Given the description of an element on the screen output the (x, y) to click on. 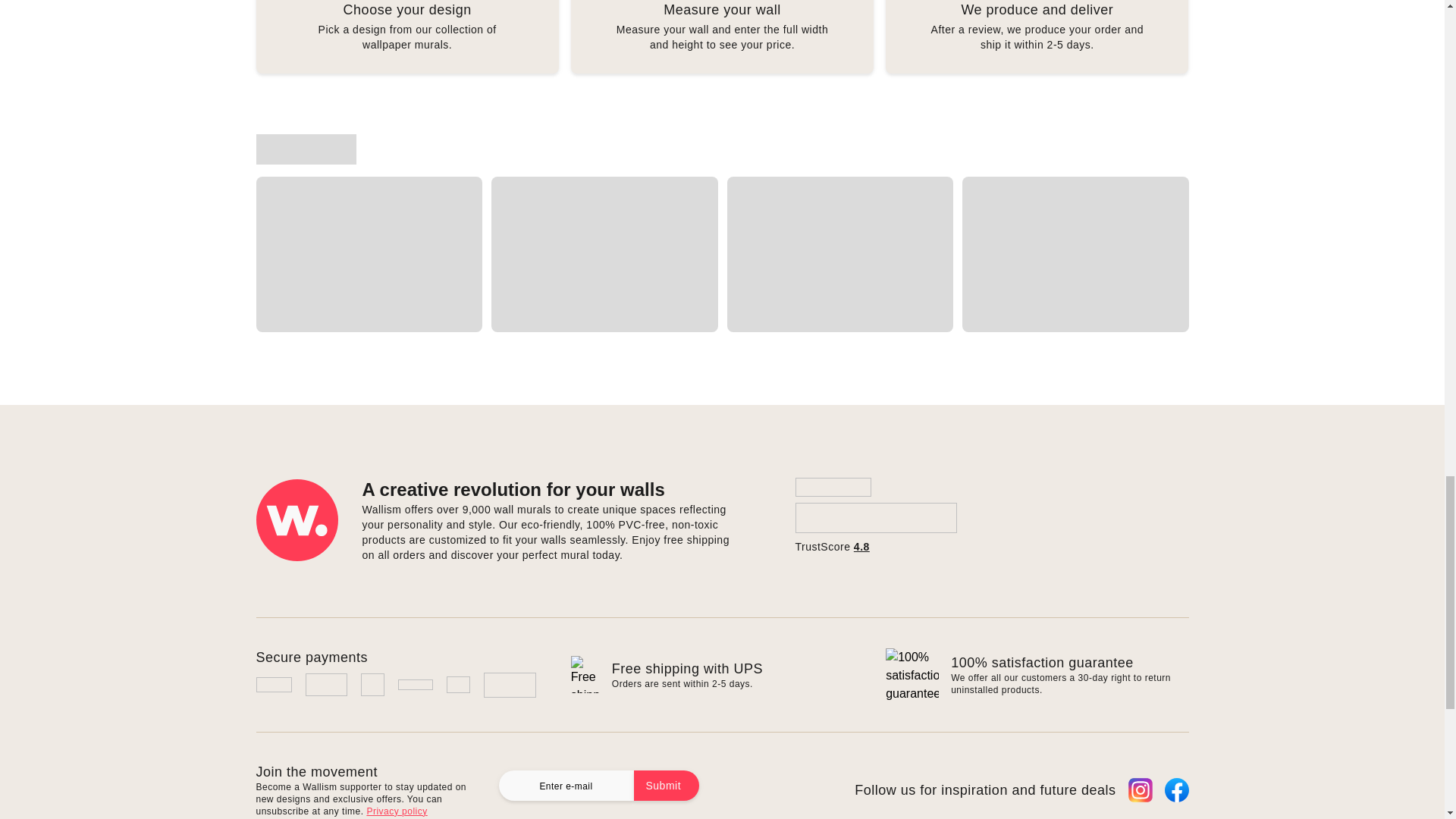
TrustScore 4.8 (875, 515)
Privacy policy (396, 810)
Submit (666, 785)
